Given the description of an element on the screen output the (x, y) to click on. 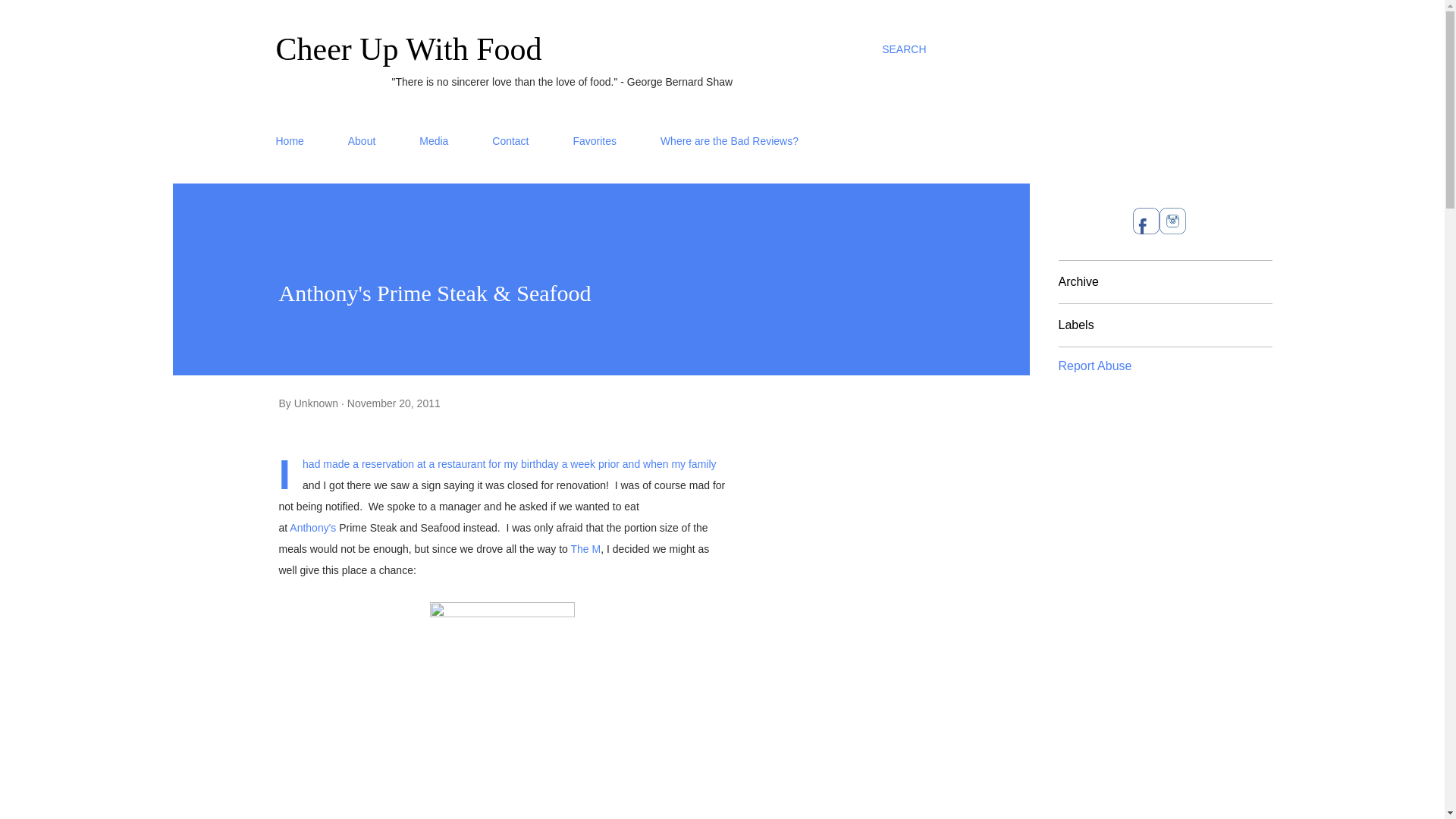
The M (584, 548)
Media (433, 141)
Anthony's (312, 527)
Where are the Bad Reviews? (729, 141)
Home (294, 141)
permanent link (394, 403)
Contact (510, 141)
Favorites (594, 141)
Cheer Up With Food (408, 48)
SEARCH (904, 49)
About (362, 141)
November 20, 2011 (394, 403)
